Given the description of an element on the screen output the (x, y) to click on. 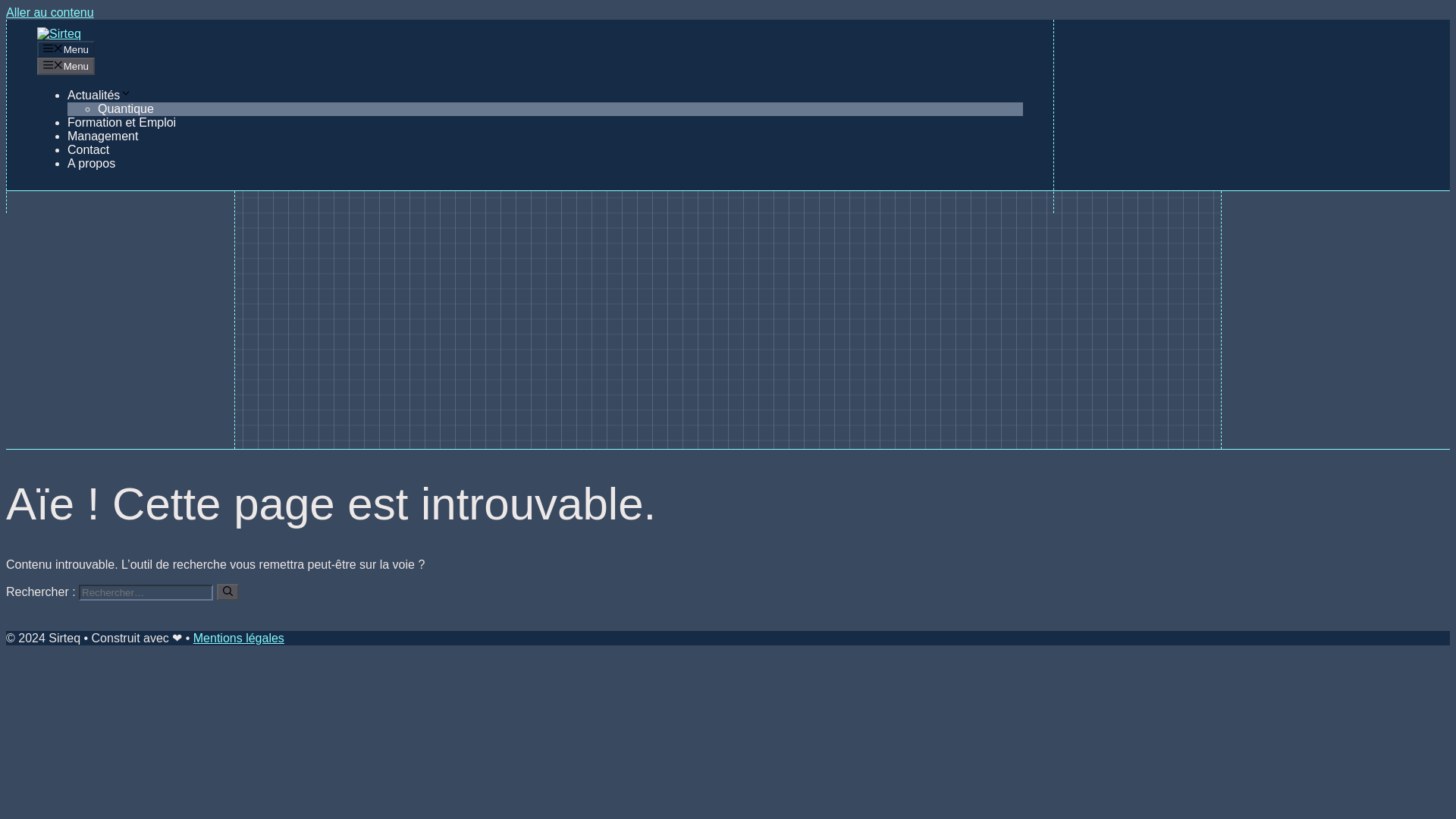
Management (102, 135)
Menu (65, 65)
Formation et Emploi (121, 122)
Aller au contenu (49, 11)
A propos (90, 163)
Contact (87, 149)
Aller au contenu (49, 11)
Quantique (125, 108)
Menu (65, 48)
